Given the description of an element on the screen output the (x, y) to click on. 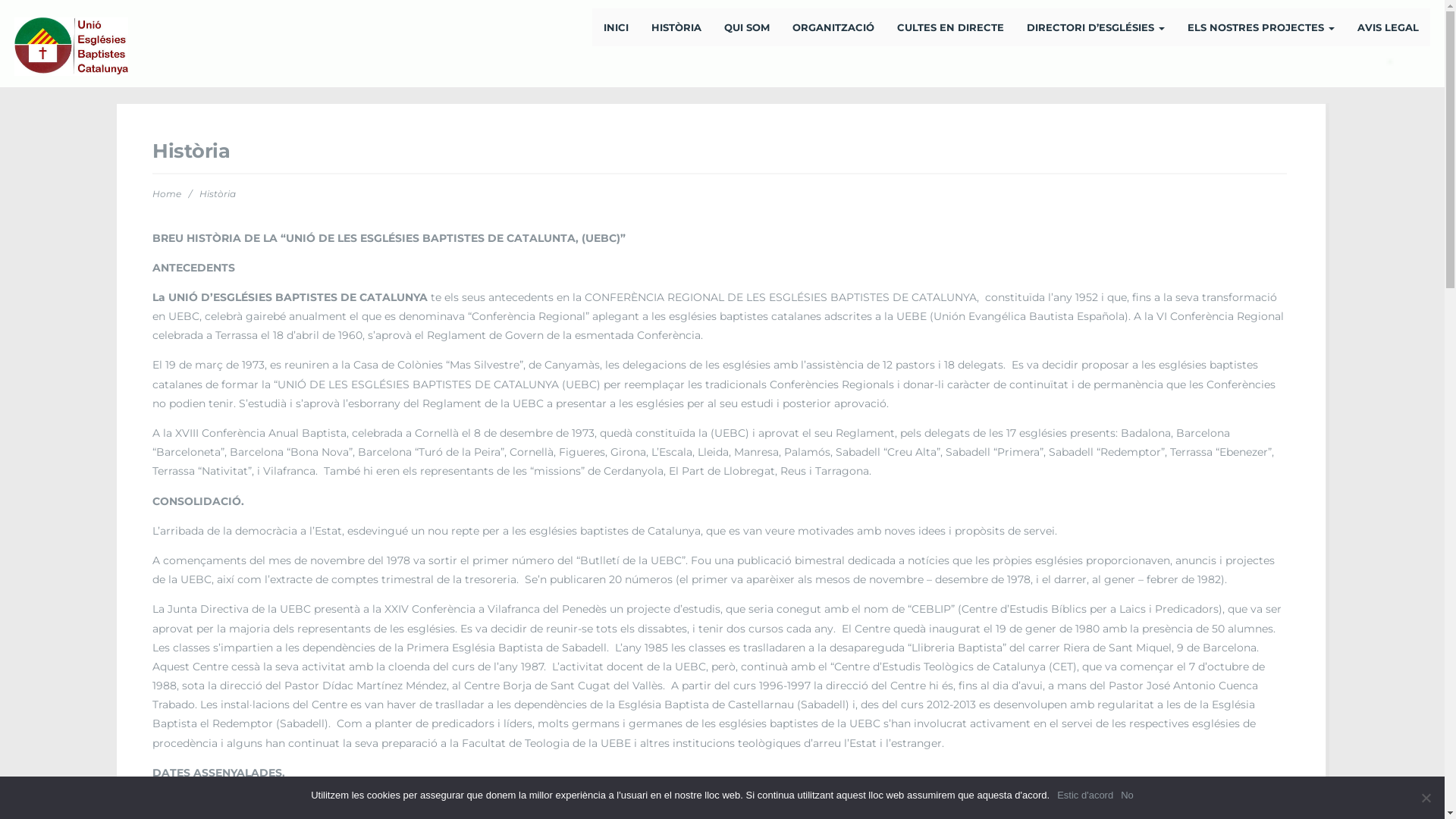
Home Element type: text (166, 193)
QUI SOM Element type: text (746, 27)
CULTES EN DIRECTE Element type: text (950, 27)
ELS NOSTRES PROJECTES Element type: text (1261, 27)
No Element type: text (1126, 794)
Estic d'acord Element type: text (1085, 794)
AVIS LEGAL Element type: text (1388, 27)
INICI Element type: text (616, 27)
